Given the description of an element on the screen output the (x, y) to click on. 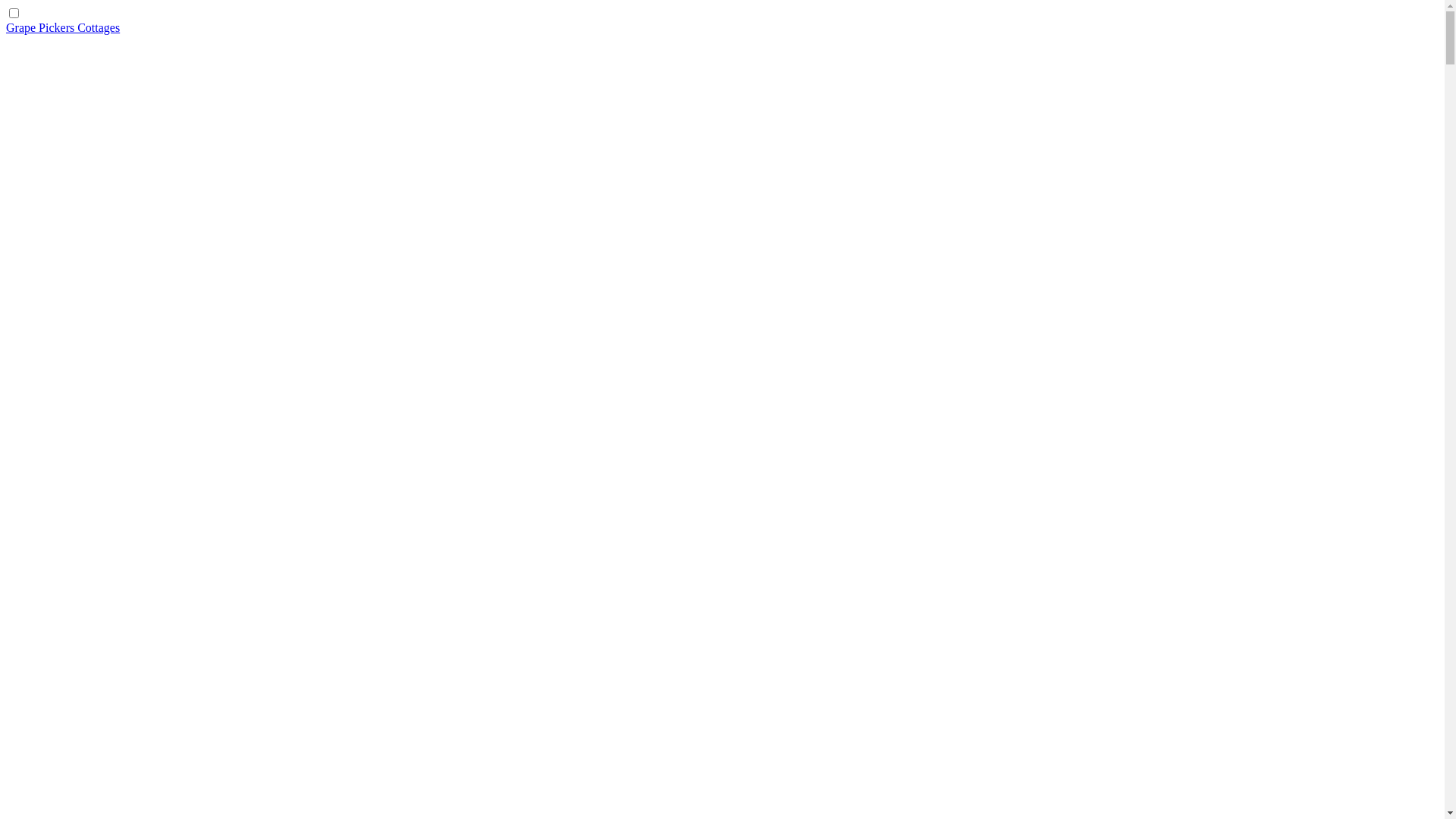
Grape Pickers Cottages Element type: text (62, 27)
